Given the description of an element on the screen output the (x, y) to click on. 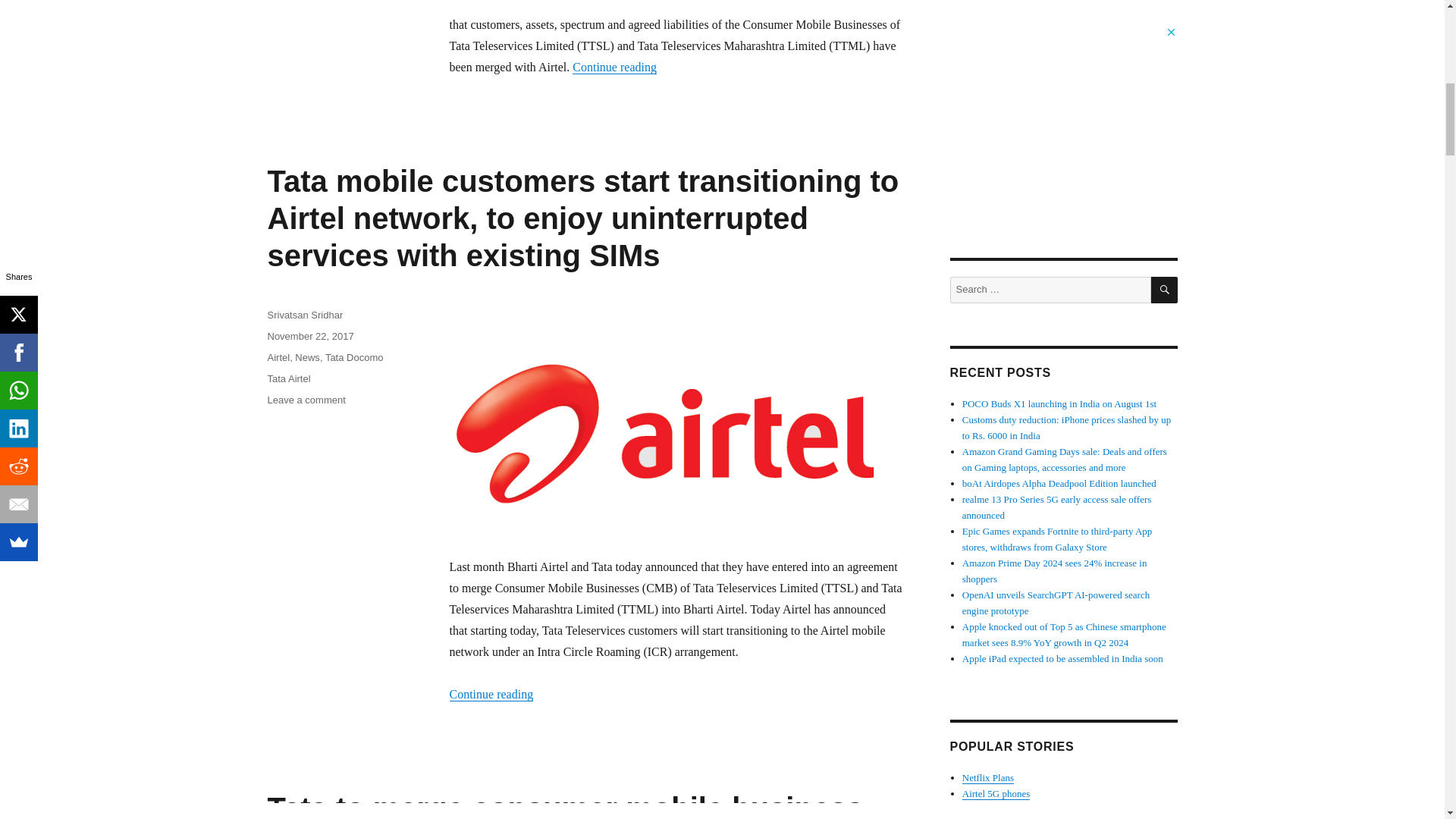
Tata Docomo (354, 357)
Tata to merge consumer mobile business with Airtel (564, 805)
Airtel (277, 357)
News (307, 357)
November 22, 2017 (309, 336)
3rd party ad content (1062, 120)
Tata Airtel (288, 378)
signing agreements (524, 4)
Srivatsan Sridhar (304, 315)
